Given the description of an element on the screen output the (x, y) to click on. 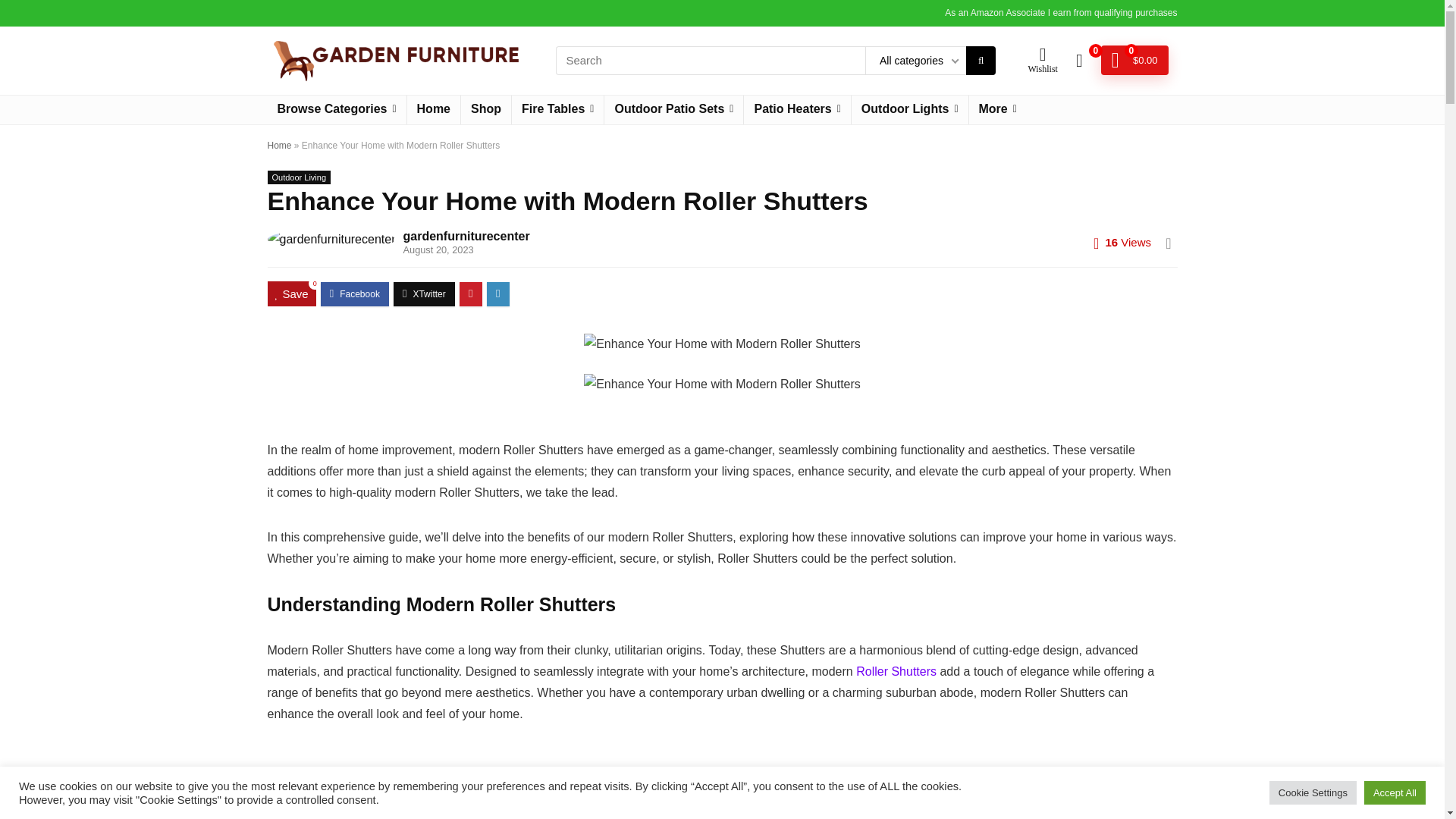
Outdoor Lights (909, 109)
View all posts in Outdoor Living (298, 177)
Outdoor Patio Sets (673, 109)
Fire Tables (558, 109)
Enhance Your Home with Modern Roller Shutters (721, 383)
Home (433, 109)
Browse Categories (336, 109)
Shop (486, 109)
Enhance Your Home with Modern Roller Shutters (721, 343)
Patio Heaters (797, 109)
